Given the description of an element on the screen output the (x, y) to click on. 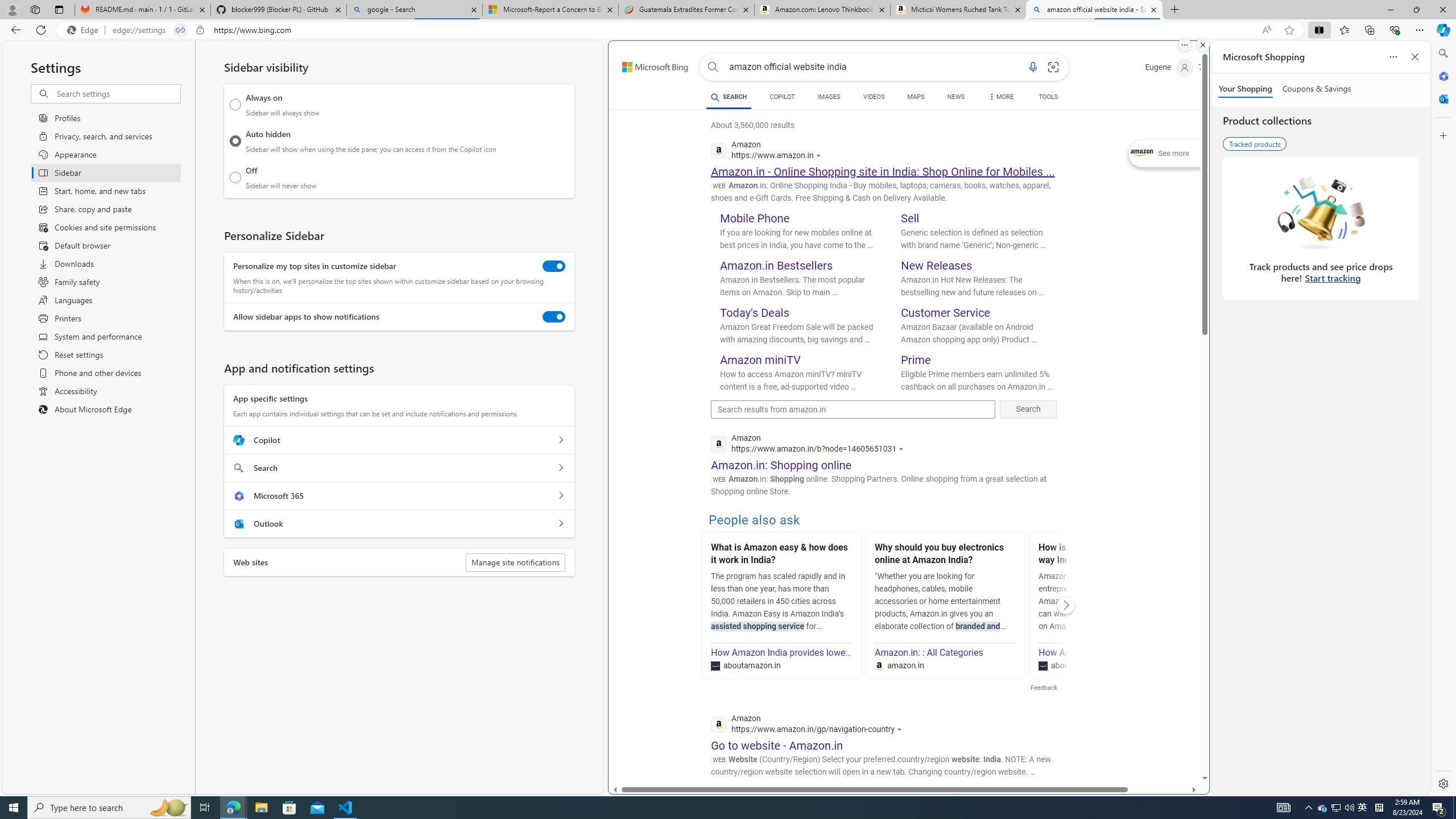
TOOLS (1048, 98)
Today's Deals (754, 312)
MORE (1000, 98)
TOOLS (1048, 96)
Expand (1142, 153)
NEWS (955, 96)
